Given the description of an element on the screen output the (x, y) to click on. 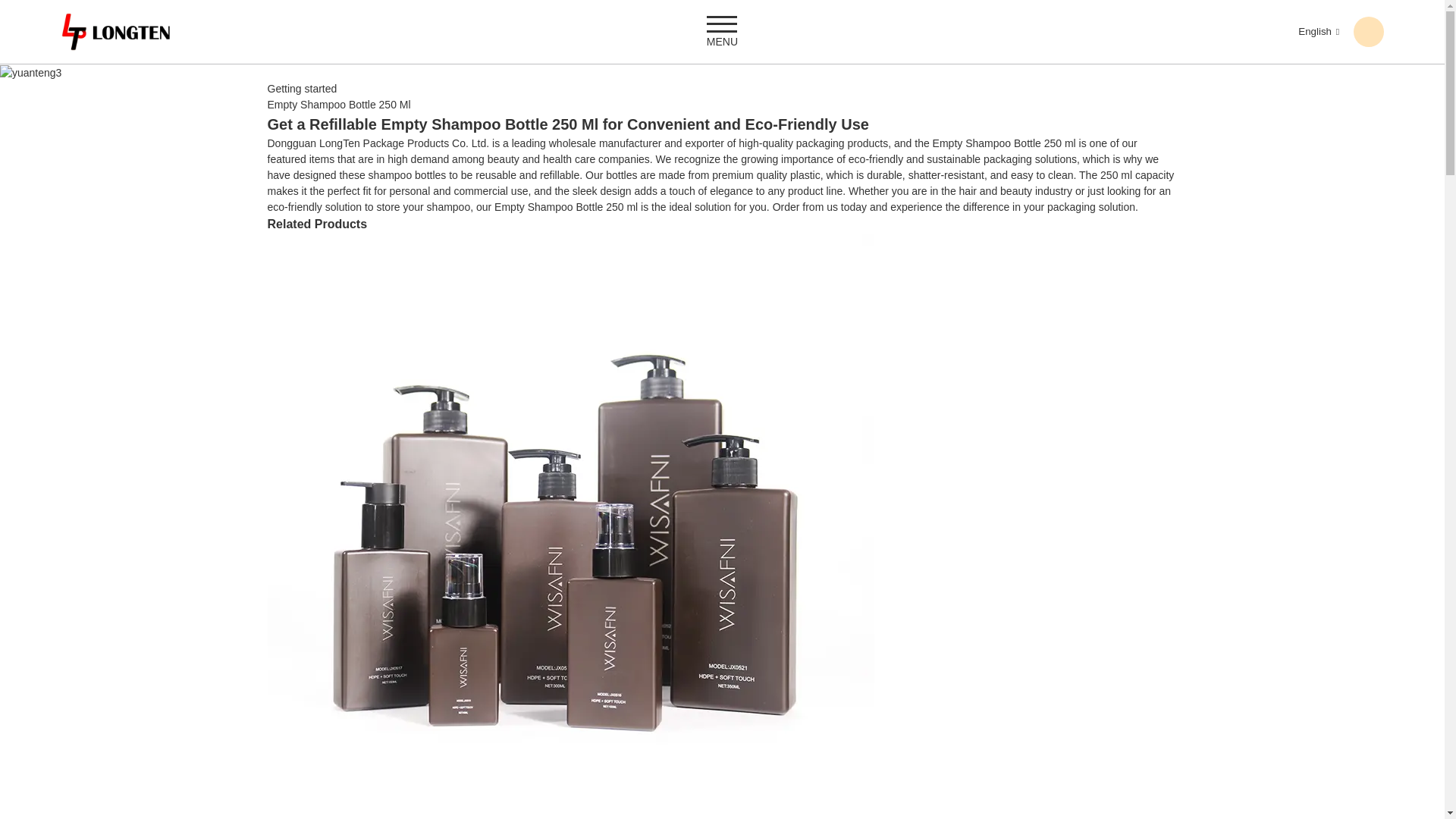
Empty Shampoo Bottle 250 Ml (338, 104)
Getting started (301, 88)
English (1305, 30)
